Given the description of an element on the screen output the (x, y) to click on. 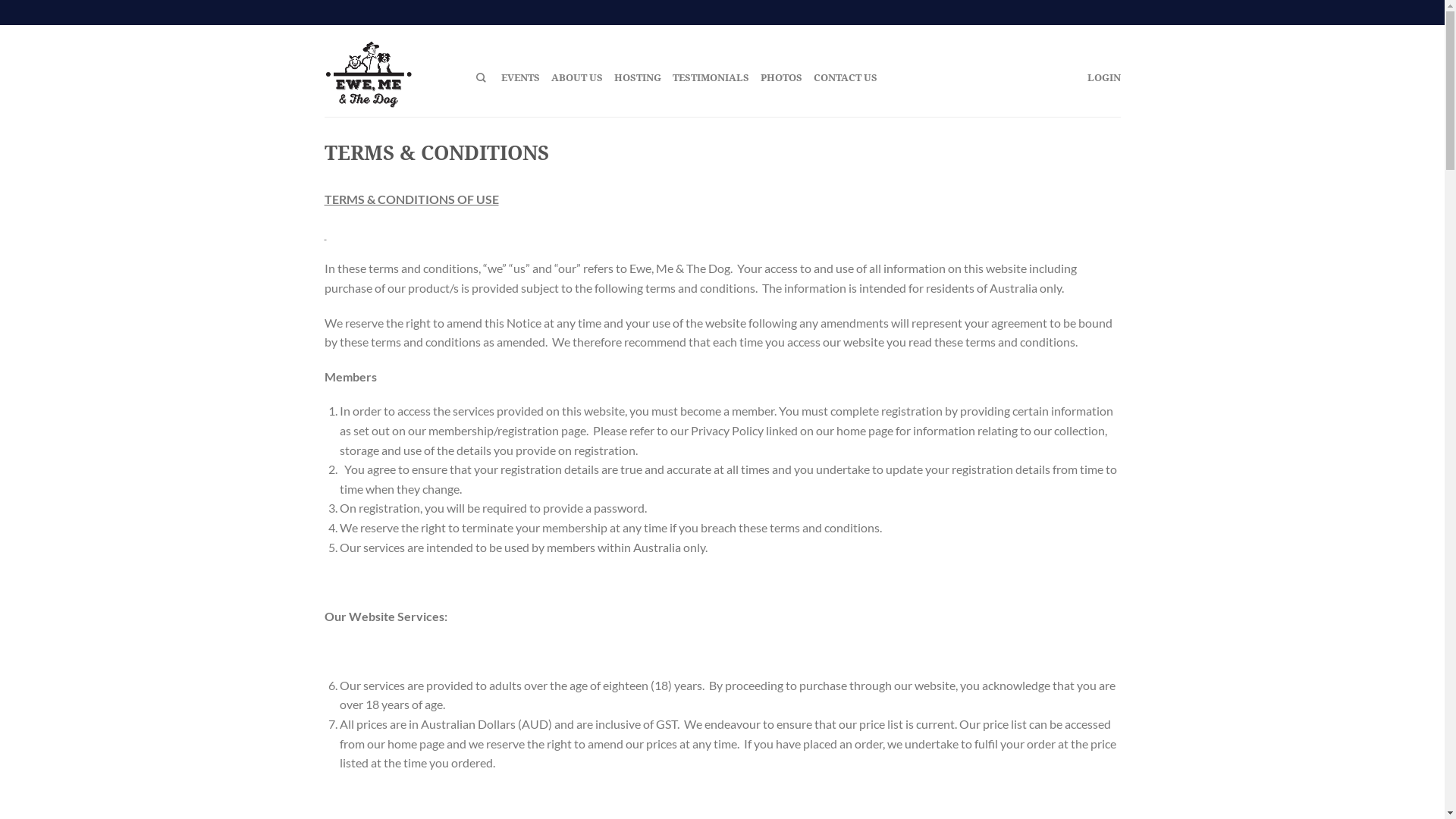
LOGIN Element type: text (1103, 76)
TESTIMONIALS Element type: text (709, 76)
ABOUT US Element type: text (576, 76)
PHOTOS Element type: text (780, 76)
HOSTING Element type: text (637, 76)
CONTACT US Element type: text (844, 76)
EVENTS Element type: text (519, 76)
